Given the description of an element on the screen output the (x, y) to click on. 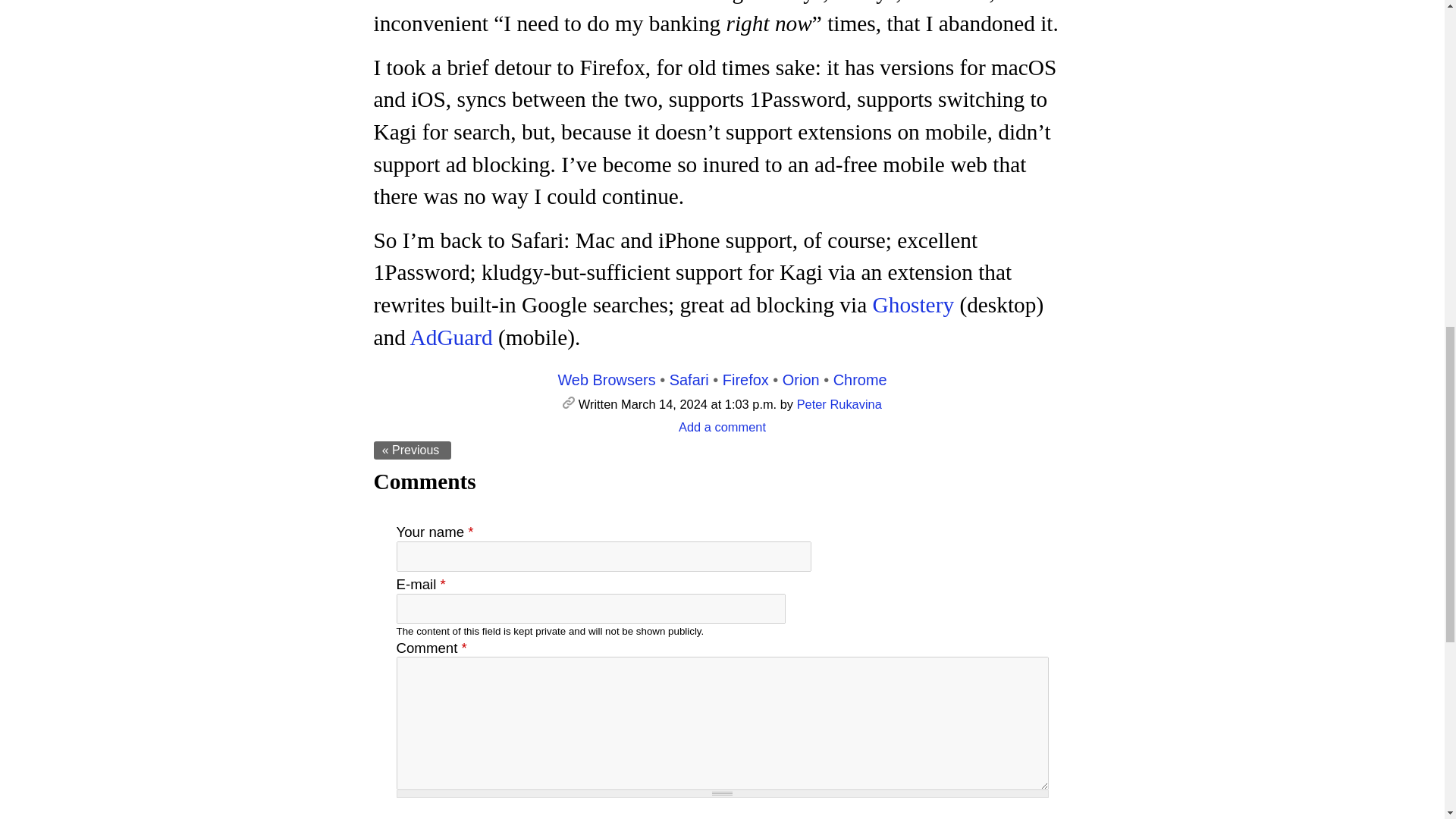
This Website is for This Box (411, 450)
Web Browsers (606, 379)
Ghostery (913, 304)
Firefox (745, 379)
Chrome (859, 379)
Peter Rukavina (839, 404)
AdGuard (451, 337)
Orion (801, 379)
Safari (689, 379)
Add a comment (721, 427)
